Given the description of an element on the screen output the (x, y) to click on. 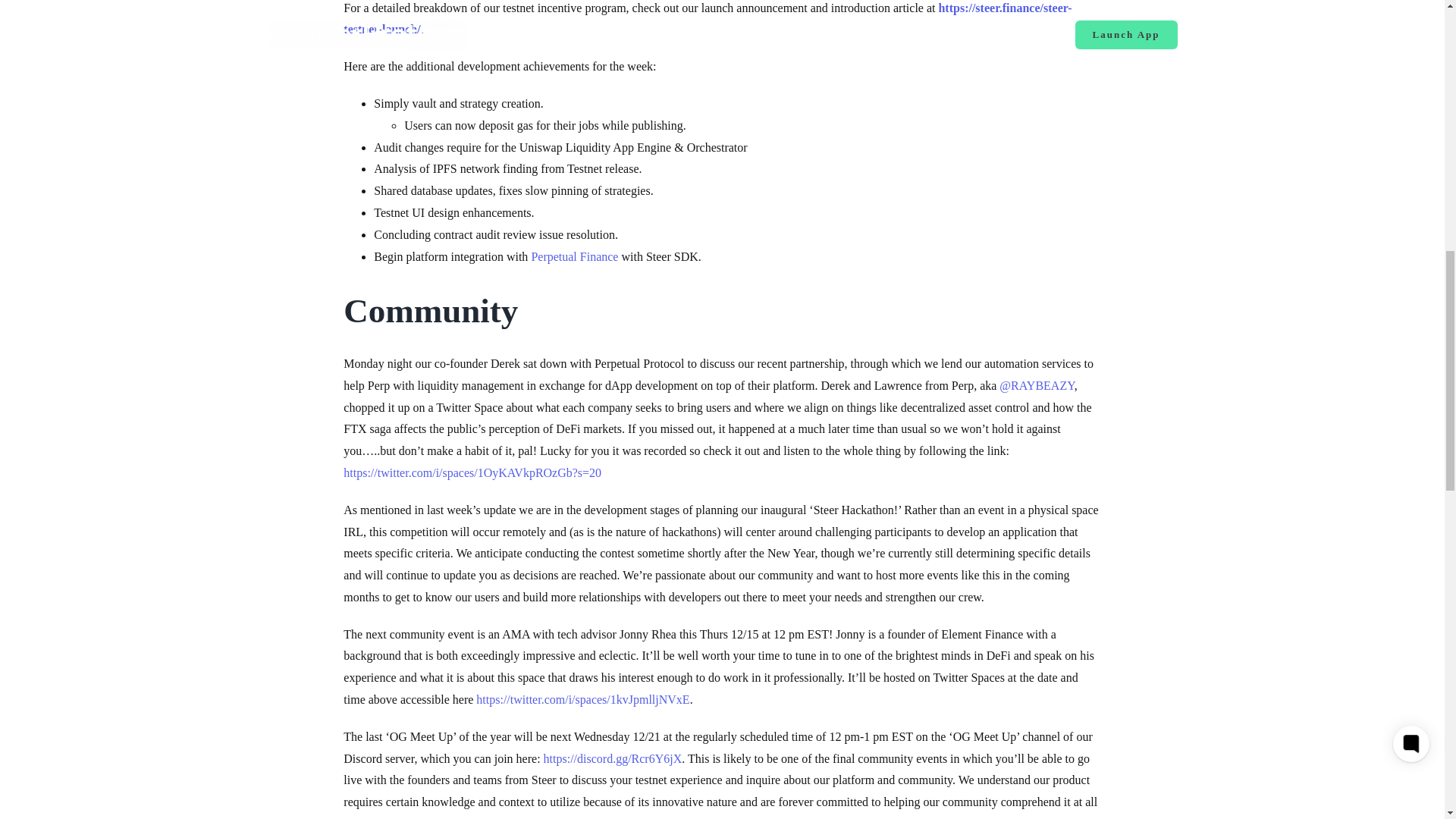
Perpetual Finance (574, 256)
